Given the description of an element on the screen output the (x, y) to click on. 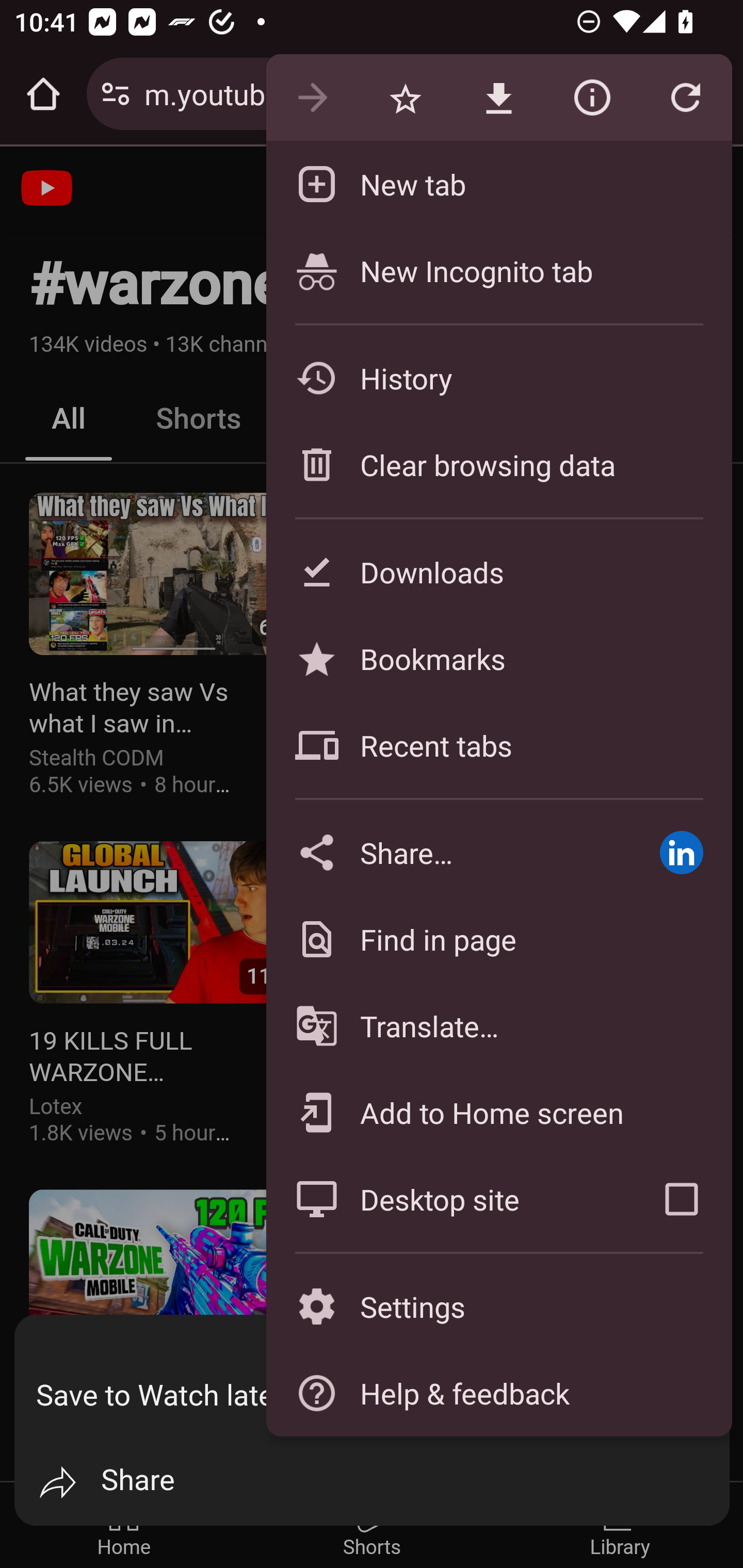
Forward (311, 97)
Bookmark (404, 97)
Download (498, 97)
Page info (591, 97)
Refresh (684, 97)
New tab (498, 184)
New Incognito tab (498, 270)
History (498, 377)
Clear browsing data (498, 464)
Downloads (498, 571)
Bookmarks (498, 658)
Recent tabs (498, 745)
Share… (447, 852)
Share via Share in a post (680, 852)
Find in page (498, 939)
Translate… (498, 1026)
Add to Home screen (498, 1112)
Desktop site Turn on Request desktop site (447, 1198)
Settings (498, 1306)
Help & feedback (498, 1393)
